Given the description of an element on the screen output the (x, y) to click on. 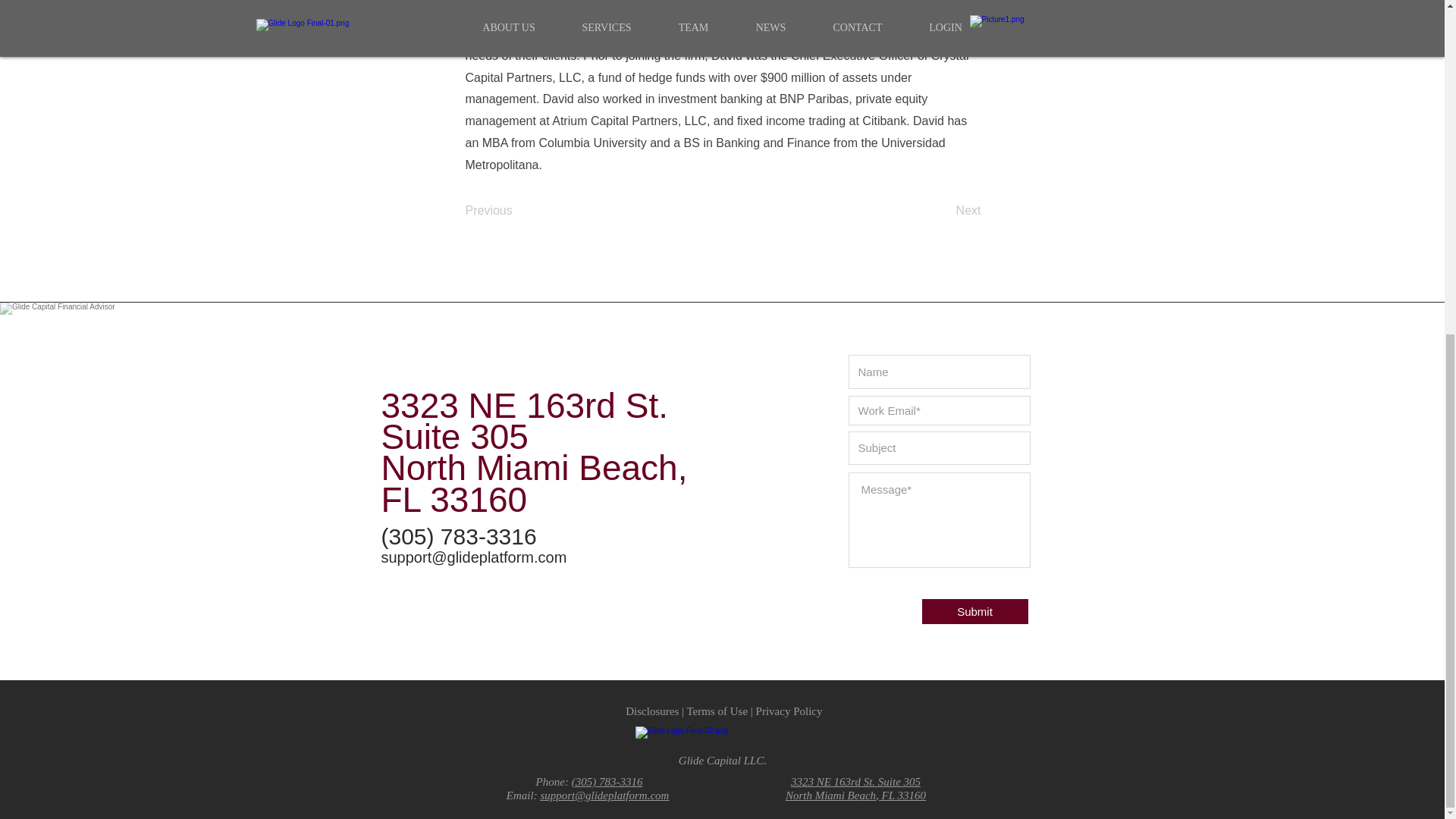
Next (943, 211)
Submit (974, 611)
Terms of Use (716, 711)
North Miami Beach, FL 33160 (856, 794)
Privacy Policy (788, 711)
3323 NE 163rd St. Suite 305 (855, 780)
 Disclosures (652, 711)
Previous (515, 211)
